Given the description of an element on the screen output the (x, y) to click on. 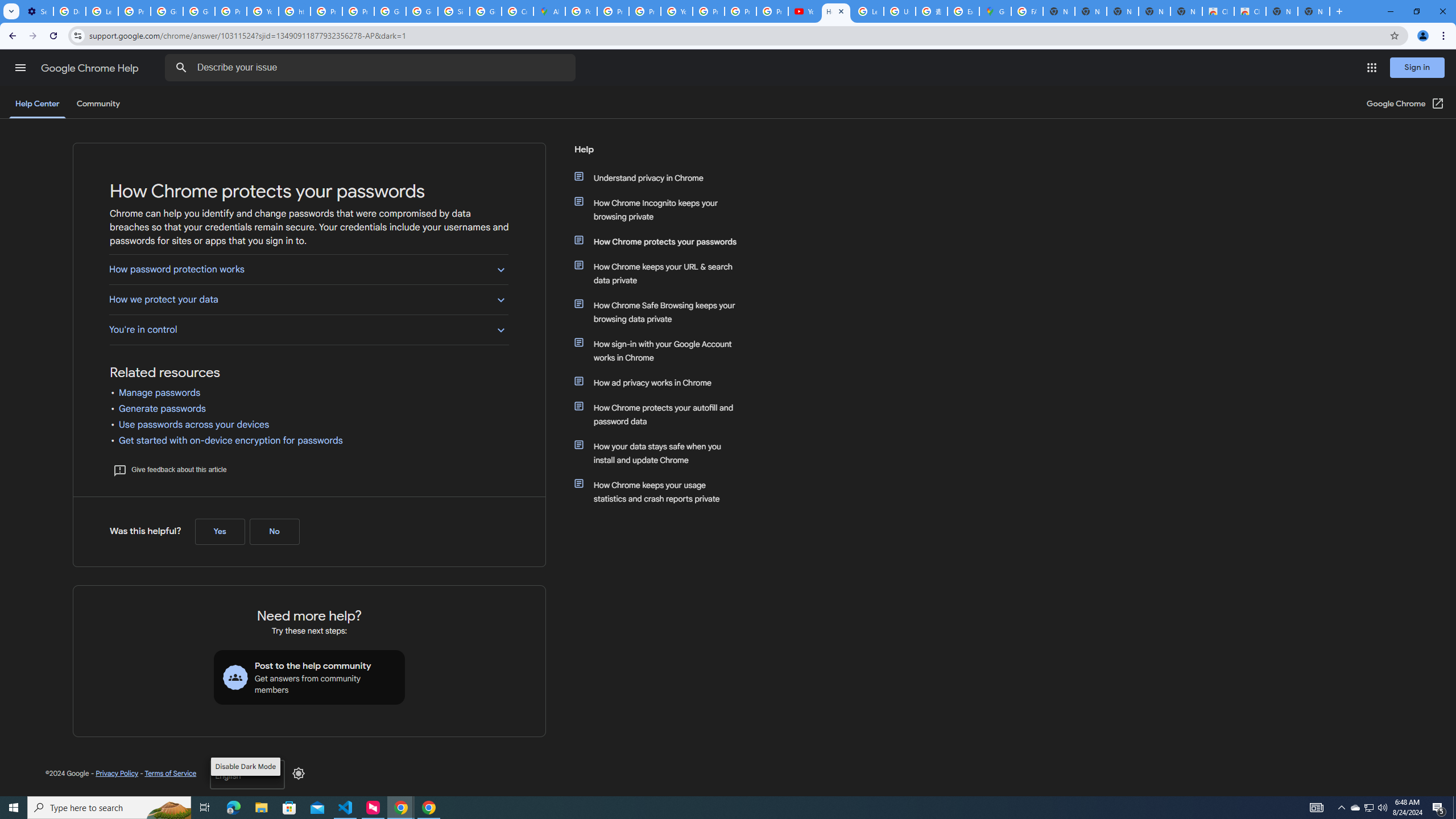
Google Maps (995, 11)
You're in control (308, 329)
Use passwords across your devices (194, 424)
Delete photos & videos - Computer - Google Photos Help (69, 11)
Explore new street-level details - Google Maps Help (963, 11)
Privacy Checkup (772, 11)
Disable Dark Mode (299, 773)
